Given the description of an element on the screen output the (x, y) to click on. 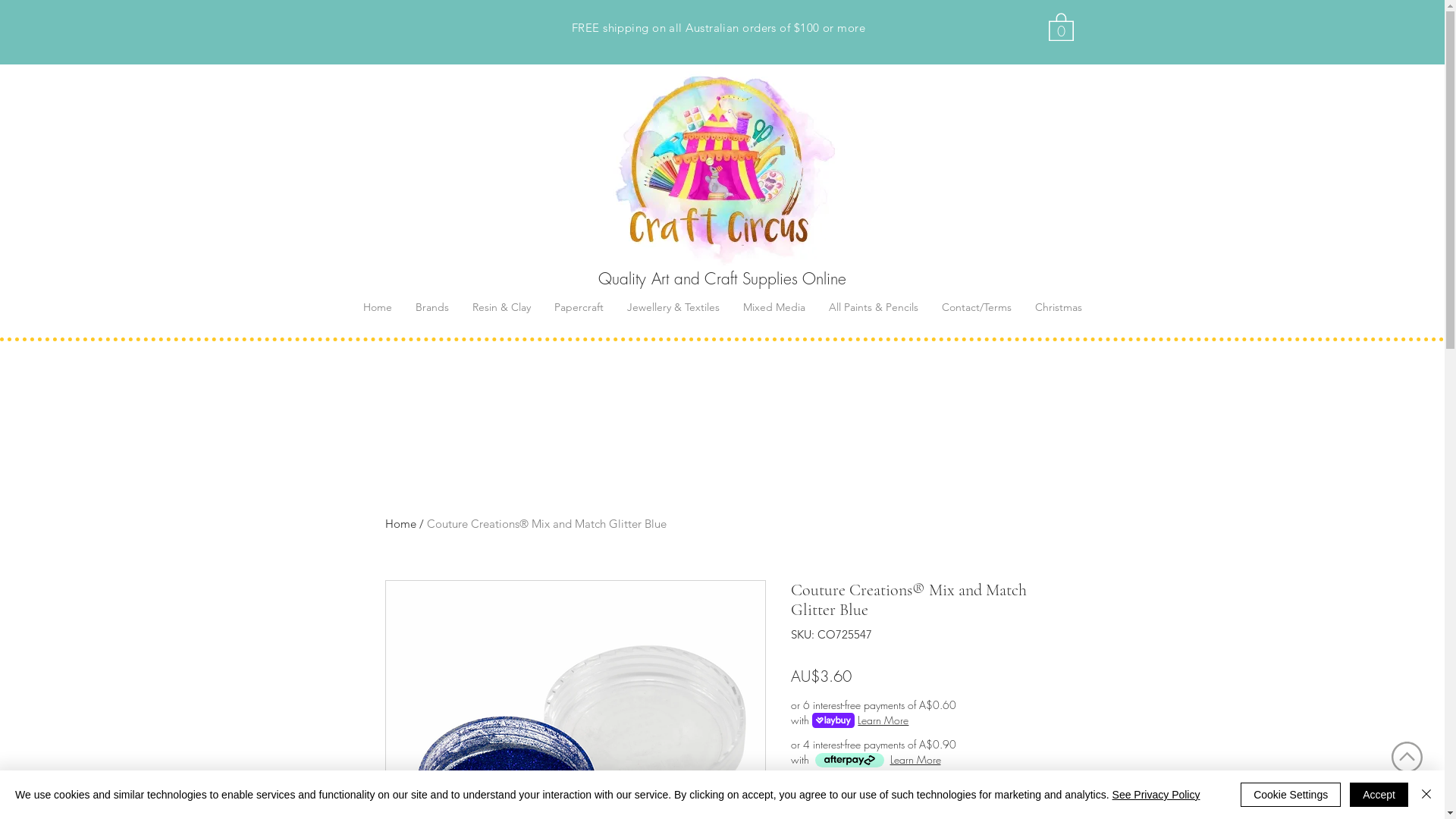
Site Search Element type: hover (437, 30)
Home Element type: text (400, 522)
0 Element type: text (1060, 25)
Home Element type: text (376, 306)
Learn More Element type: text (915, 759)
Accept Element type: text (1378, 794)
Contact/Terms Element type: text (975, 306)
m_logo PNG.jpg Element type: hover (717, 166)
See Privacy Policy Element type: text (1156, 794)
Christmas Element type: text (1058, 306)
Cookie Settings Element type: text (1290, 794)
Learn More Element type: text (882, 720)
